Given the description of an element on the screen output the (x, y) to click on. 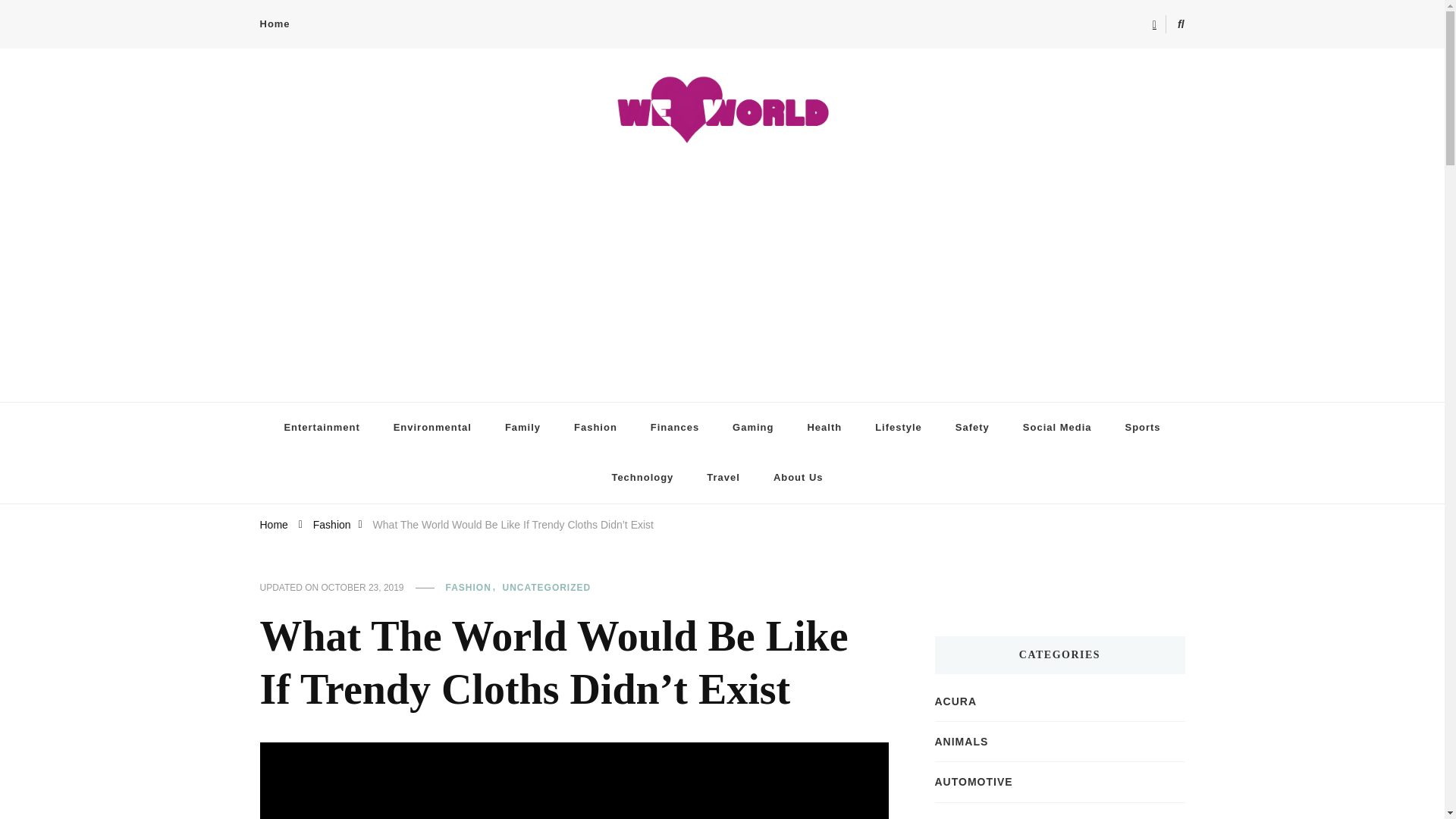
FASHION (472, 588)
Health (824, 427)
Fashion (331, 523)
Sports (1142, 427)
Gaming (753, 427)
Technology (642, 477)
Travel (723, 477)
About Us (803, 477)
We Heart World (339, 393)
UNCATEGORIZED (546, 588)
